Given the description of an element on the screen output the (x, y) to click on. 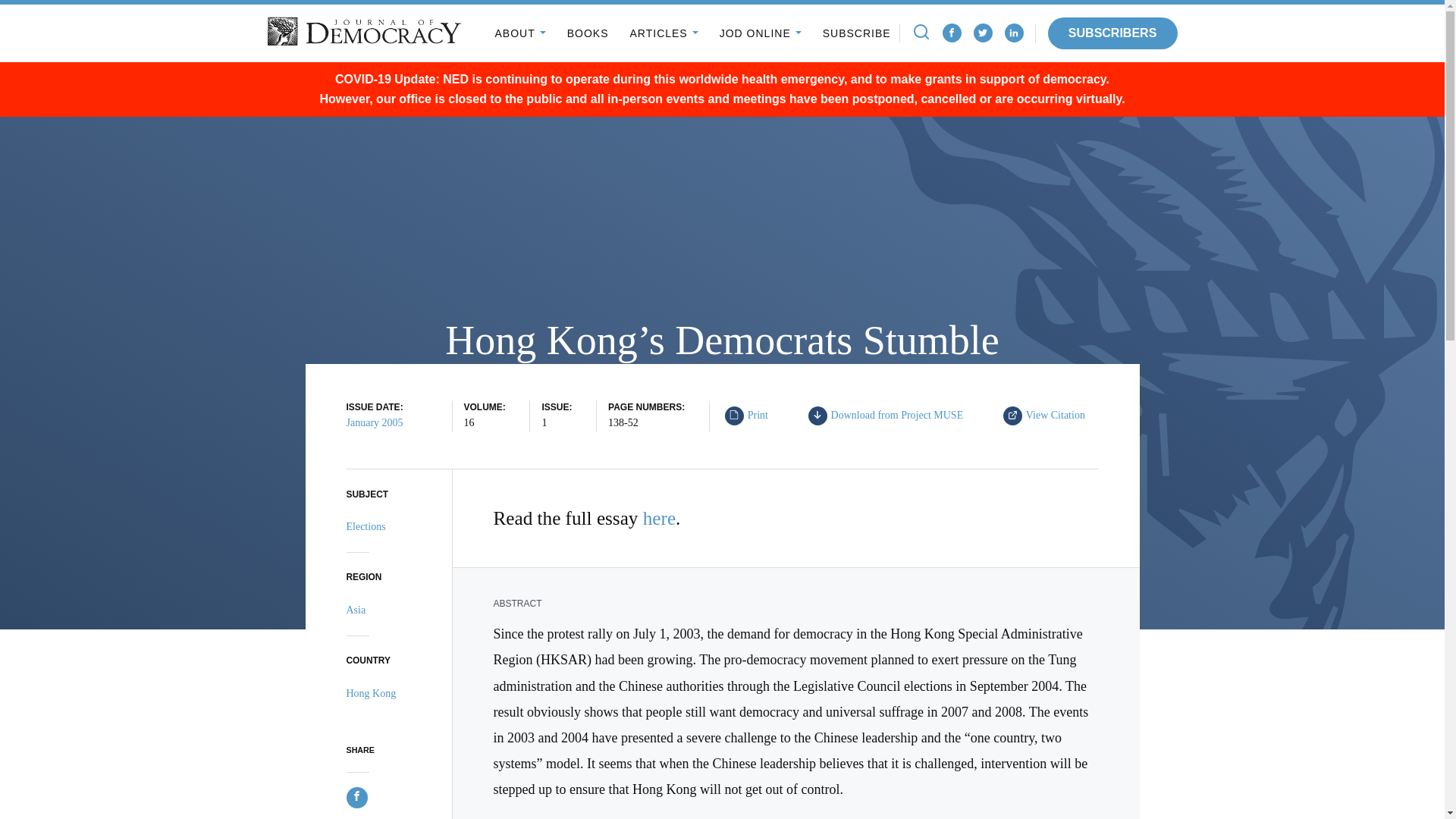
SUBSCRIBE (890, 415)
here (856, 33)
twitter (659, 517)
linkedin (982, 31)
file (1013, 32)
arrow-down-thin (733, 414)
LinkedIn (817, 414)
facebook (1013, 32)
Twitter (951, 32)
January 2005 (983, 32)
search (374, 422)
linkedin (921, 31)
search (1048, 415)
